Given the description of an element on the screen output the (x, y) to click on. 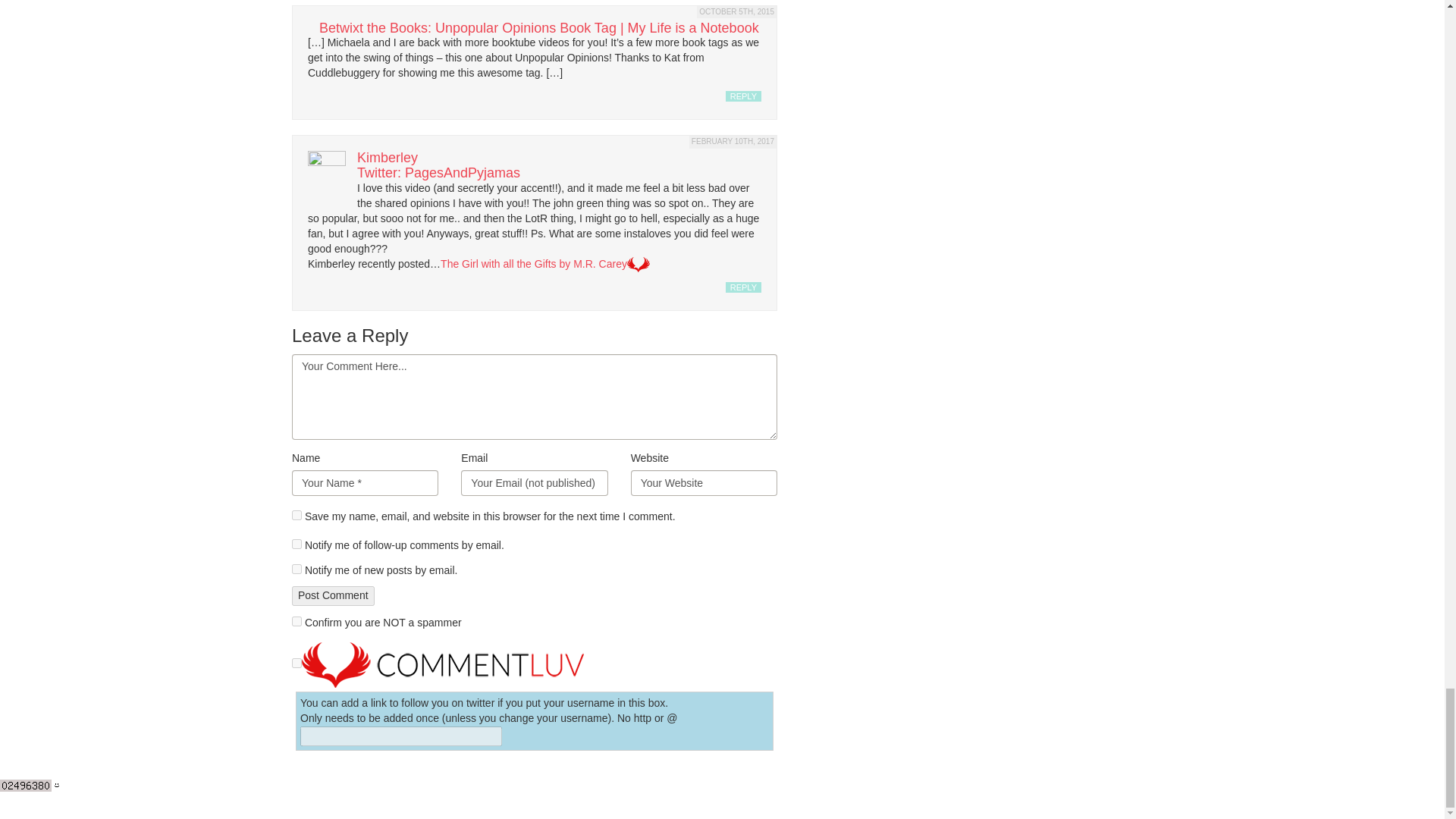
Post Comment (333, 596)
on (296, 621)
yes (296, 515)
subscribe (296, 543)
on (296, 663)
subscribe (296, 569)
